Given the description of an element on the screen output the (x, y) to click on. 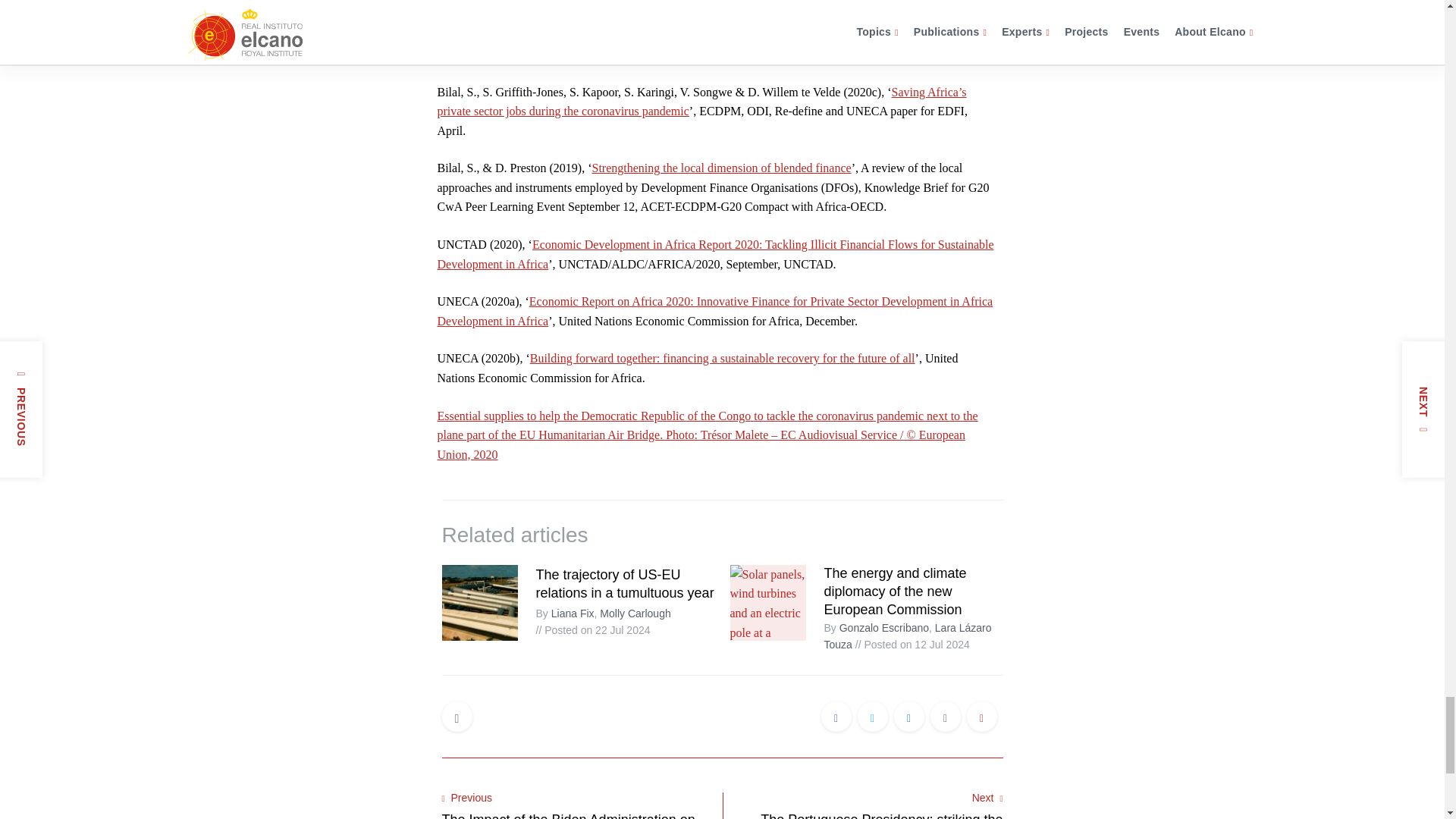
Copy Link (980, 717)
Posted on 22 Jul 2024 (592, 630)
Posted on 12 Jul 2024 (912, 644)
